Given the description of an element on the screen output the (x, y) to click on. 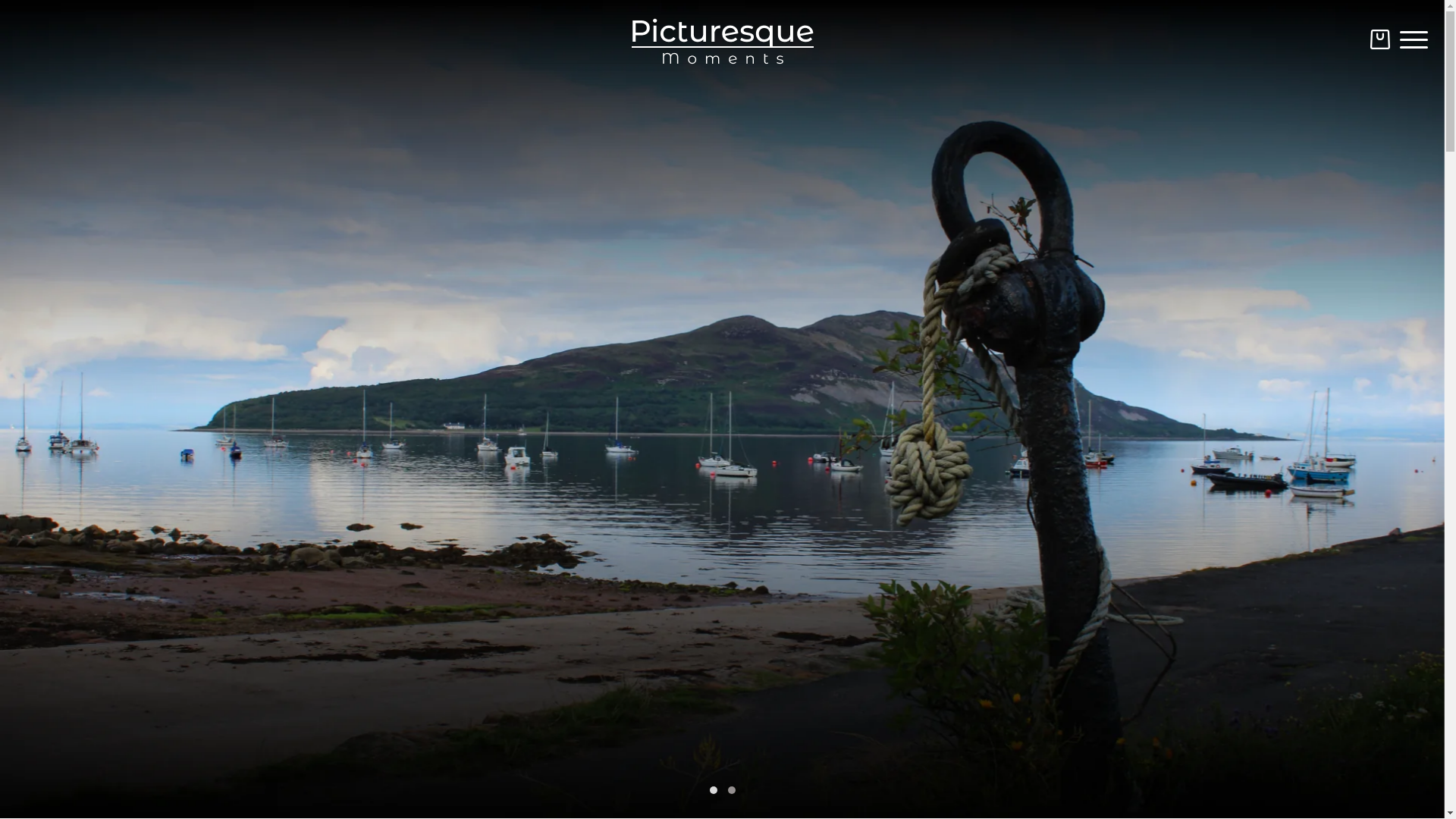
Skip to content (45, 17)
